Given the description of an element on the screen output the (x, y) to click on. 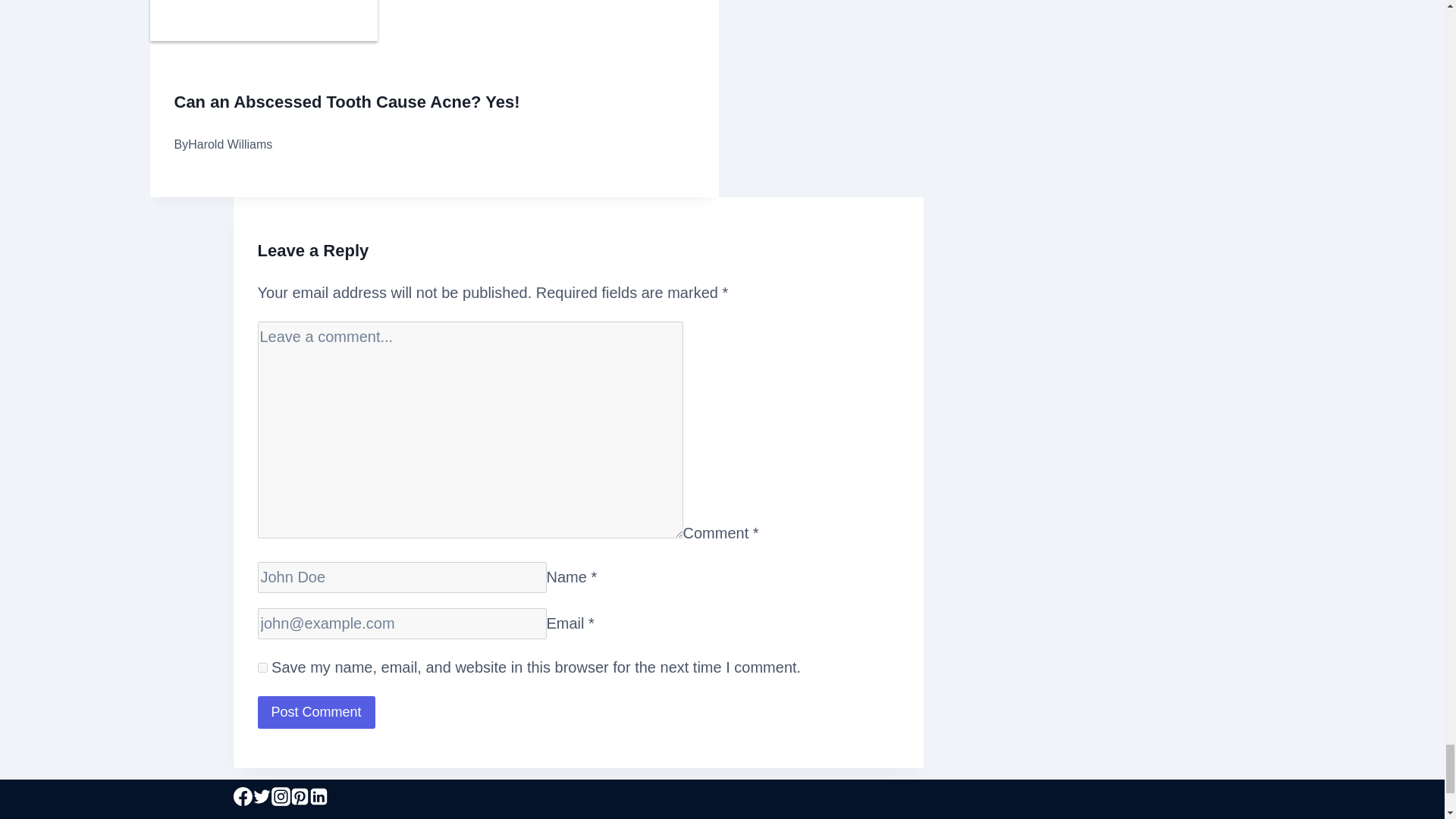
Post Comment (316, 712)
yes (262, 667)
